Given the description of an element on the screen output the (x, y) to click on. 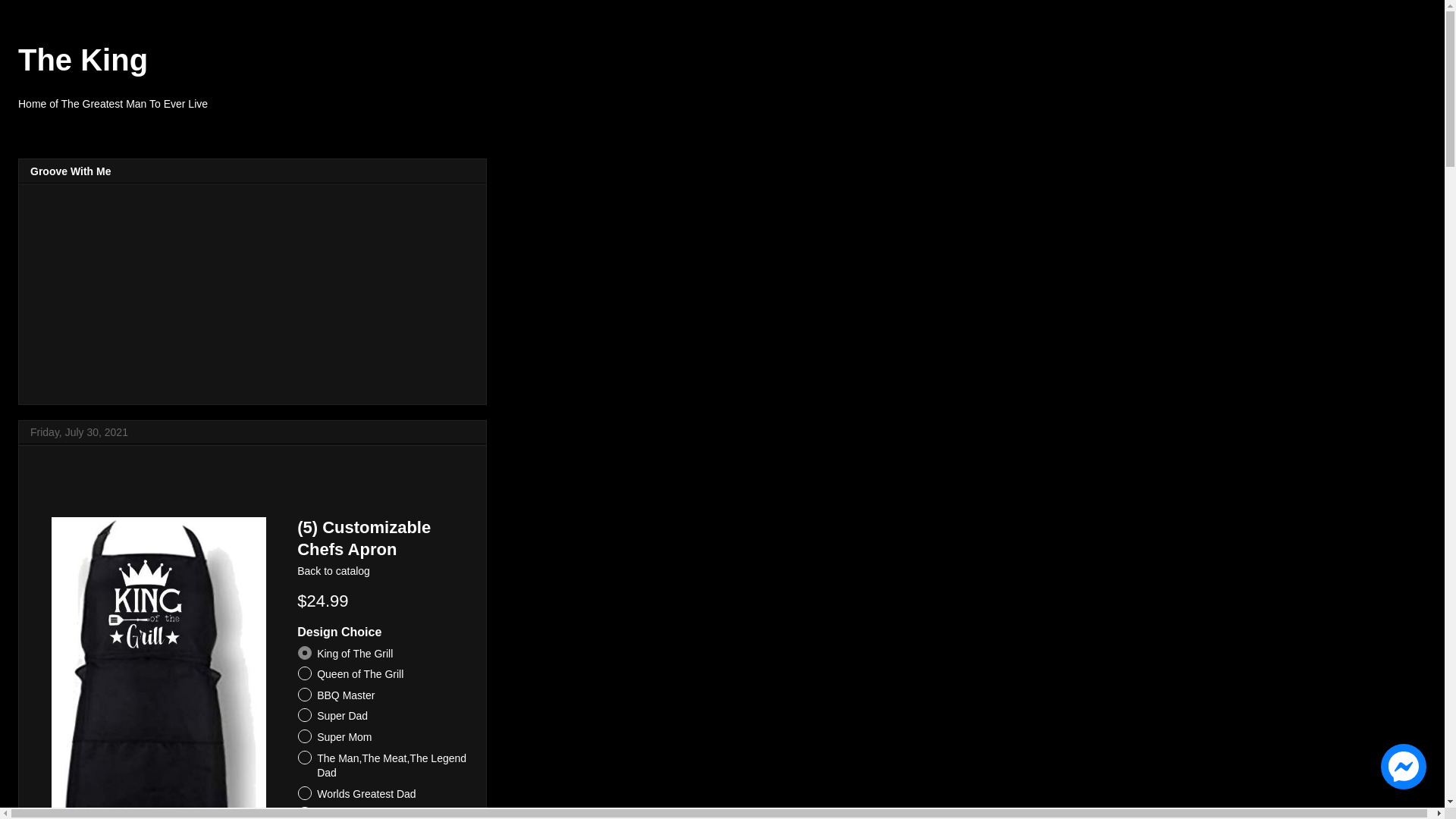
The King Element type: text (82, 59)
Back to catalog Element type: text (333, 570)
